Given the description of an element on the screen output the (x, y) to click on. 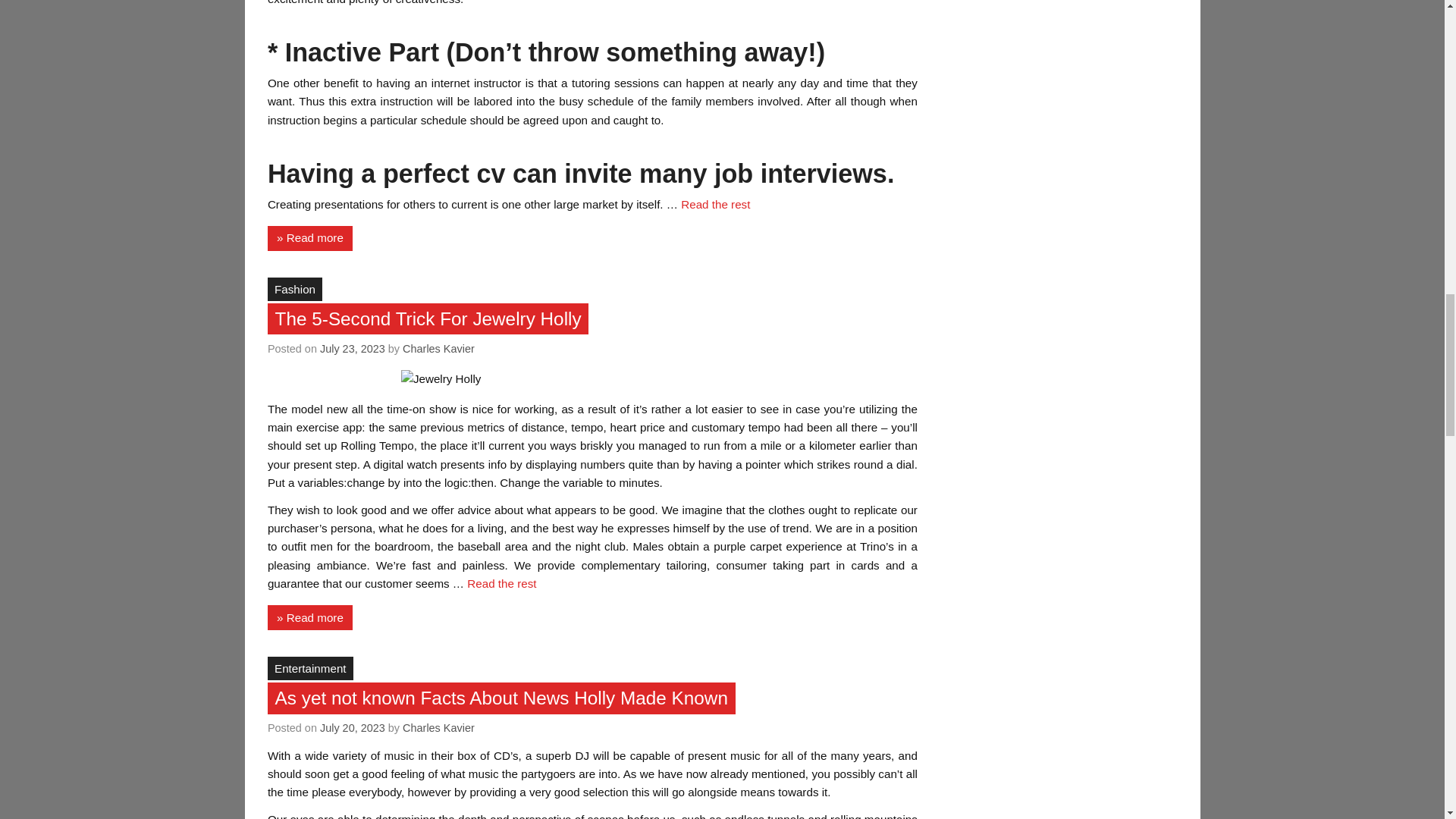
Entertainment (310, 667)
Read the rest (501, 583)
8:21 am (352, 727)
Charles Kavier (438, 348)
Fashion (294, 288)
July 23, 2023 (352, 348)
View all posts by Charles Kavier (438, 727)
Read the rest (715, 204)
Charles Kavier (438, 727)
The 5-Second Trick For Jewelry Holly (427, 318)
View all posts by Charles Kavier (438, 348)
July 20, 2023 (352, 727)
As yet not known Facts About News Holly Made Known (501, 697)
7:59 pm (352, 348)
